Given the description of an element on the screen output the (x, y) to click on. 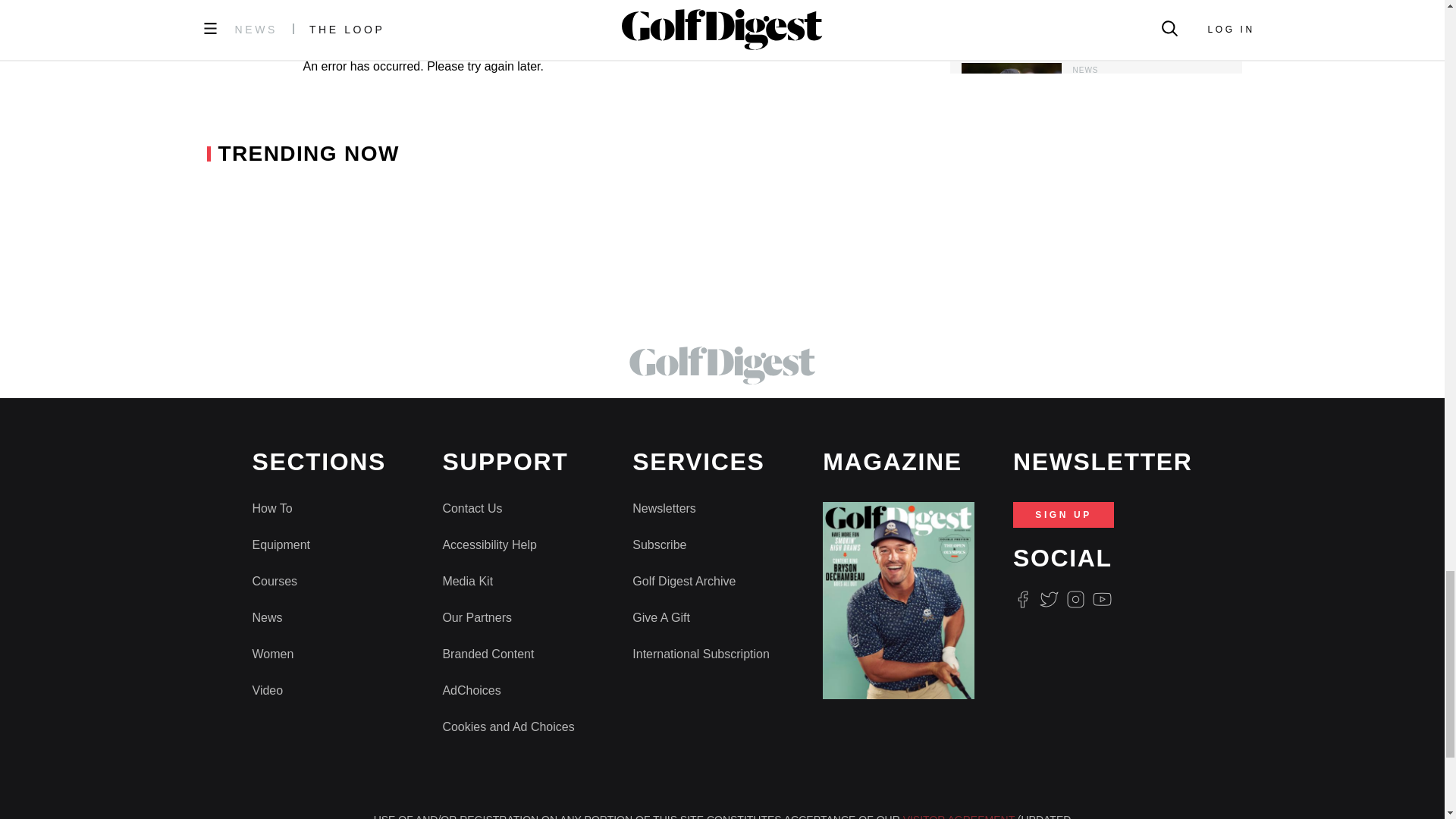
Twitter Logo (1048, 599)
Instagram Logo (1074, 599)
Youtube Icon (1102, 599)
Facebook Logo (1022, 599)
